Given the description of an element on the screen output the (x, y) to click on. 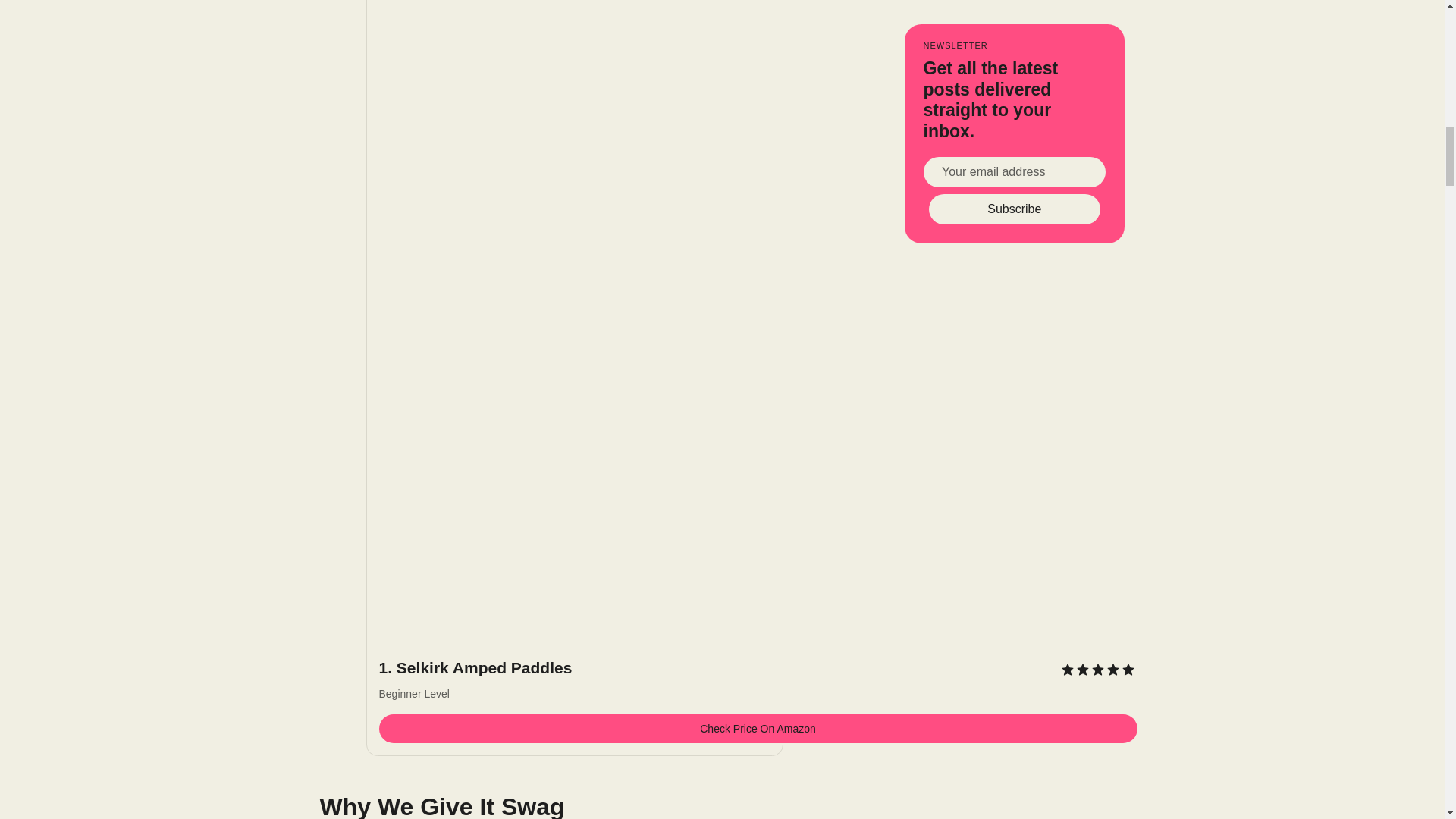
Check Price On Amazon (757, 728)
